Given the description of an element on the screen output the (x, y) to click on. 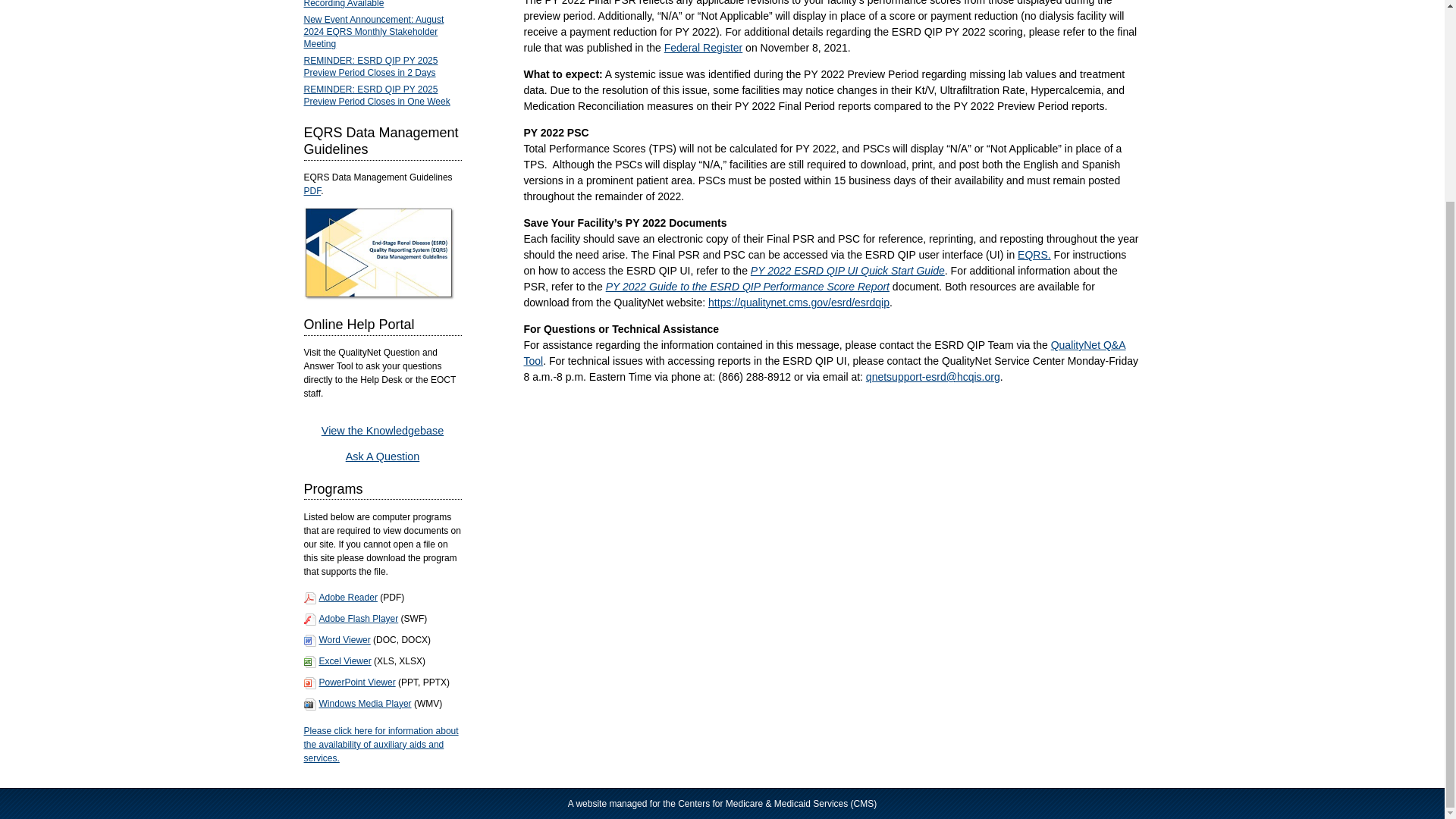
Word Viewer (343, 639)
View the Knowledgebase (382, 430)
Excel Viewer (344, 661)
Download Microsoft Word Viewer (356, 682)
Download Microsoft Windows Media Player (364, 703)
Adobe Flash Player (357, 618)
Windows Media Player (364, 703)
Adobe Reader (347, 597)
Federal Register (702, 47)
